Given the description of an element on the screen output the (x, y) to click on. 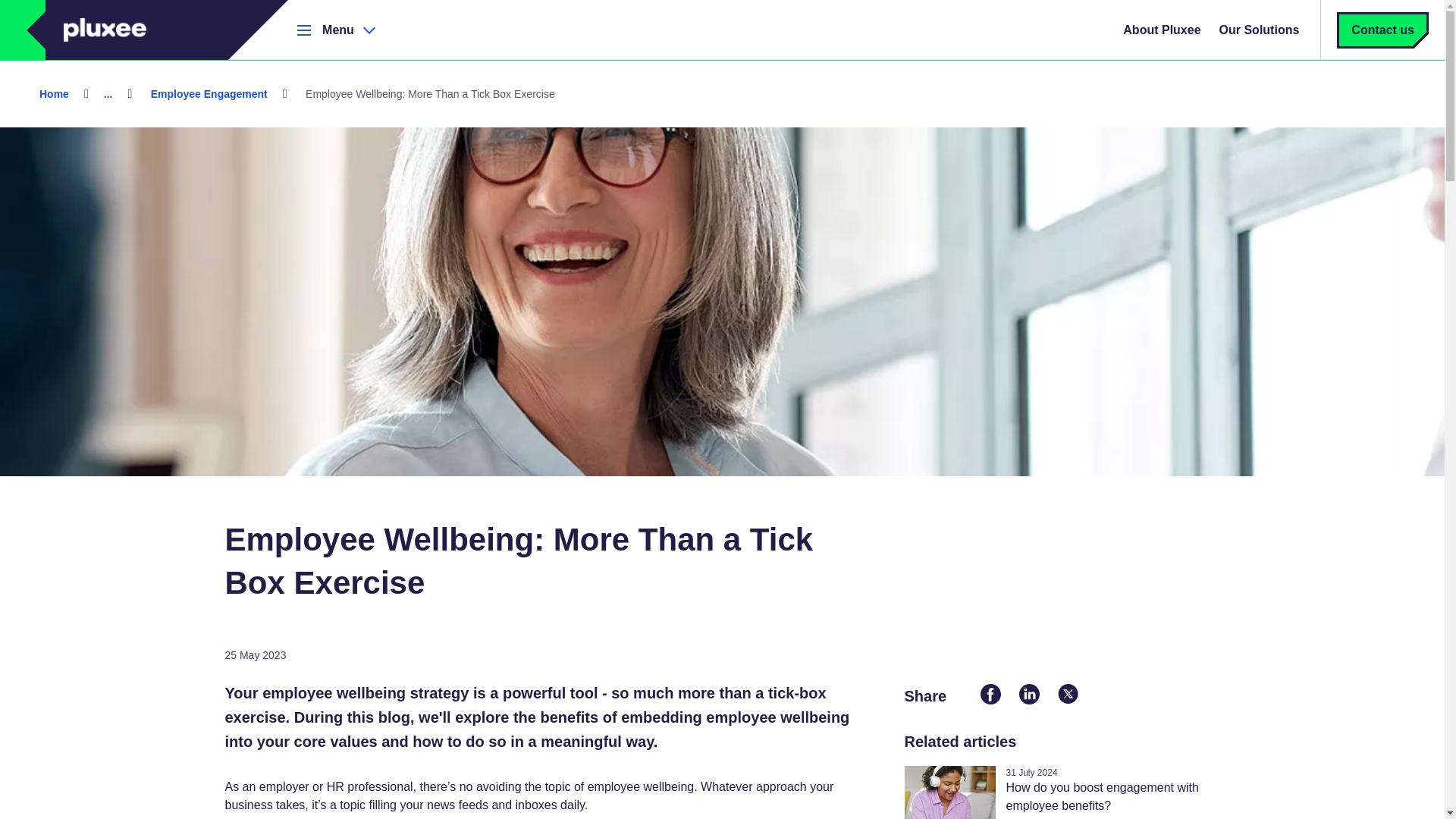
About Pluxee (1161, 29)
Our Solutions (1258, 29)
Home (54, 93)
Employee Engagement (208, 93)
How do you boost engagement with employee benefits? (1102, 796)
Contact us (1382, 29)
